Given the description of an element on the screen output the (x, y) to click on. 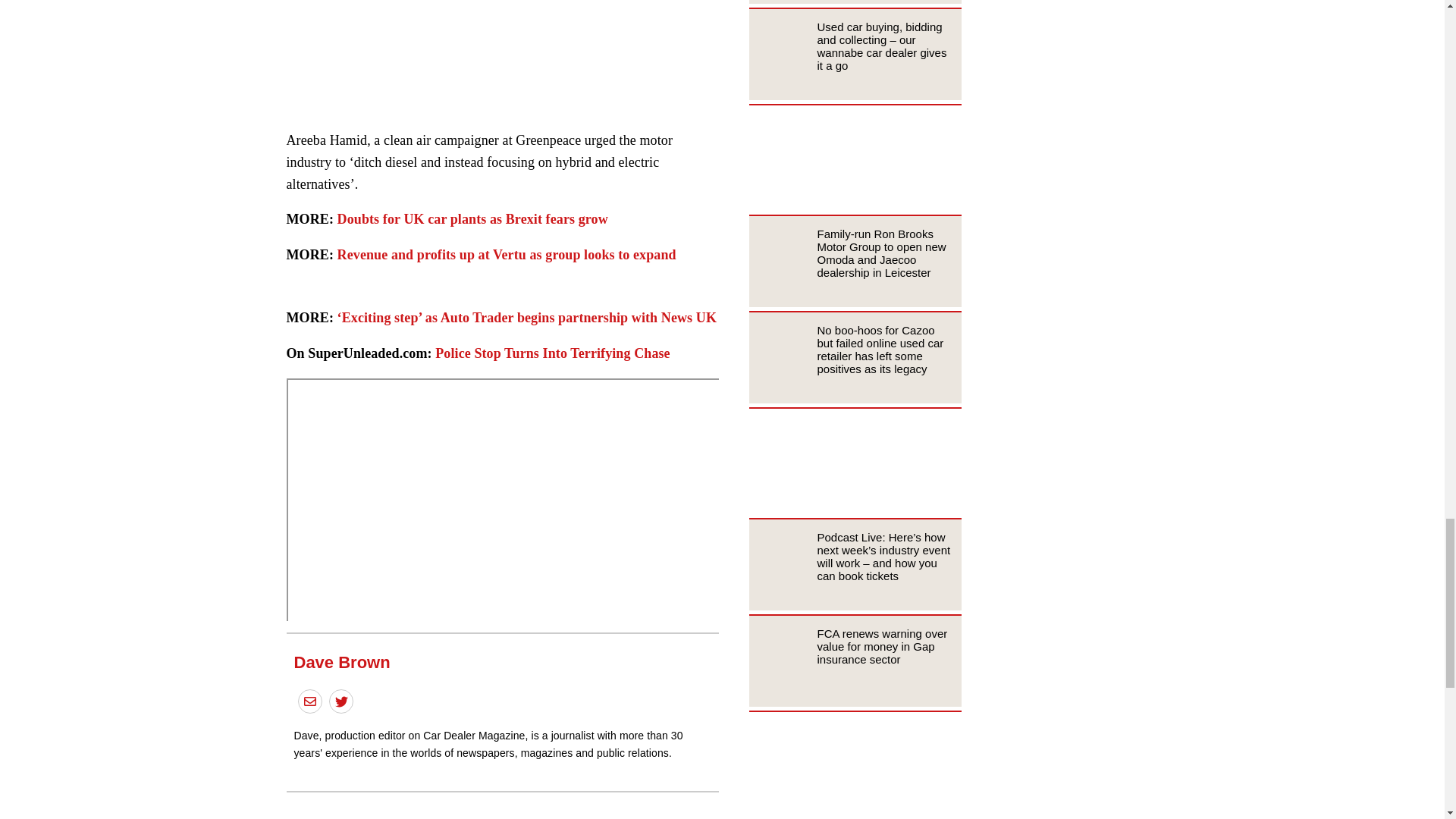
Posts by Dave Brown (342, 661)
Revenue and profits up at Vertu as group looks to expand (507, 254)
Doubts for UK car plants as Brexit fears grow (472, 218)
Police Stop Turns Into Terrifying Chase (552, 353)
Dave Brown (342, 661)
